Given the description of an element on the screen output the (x, y) to click on. 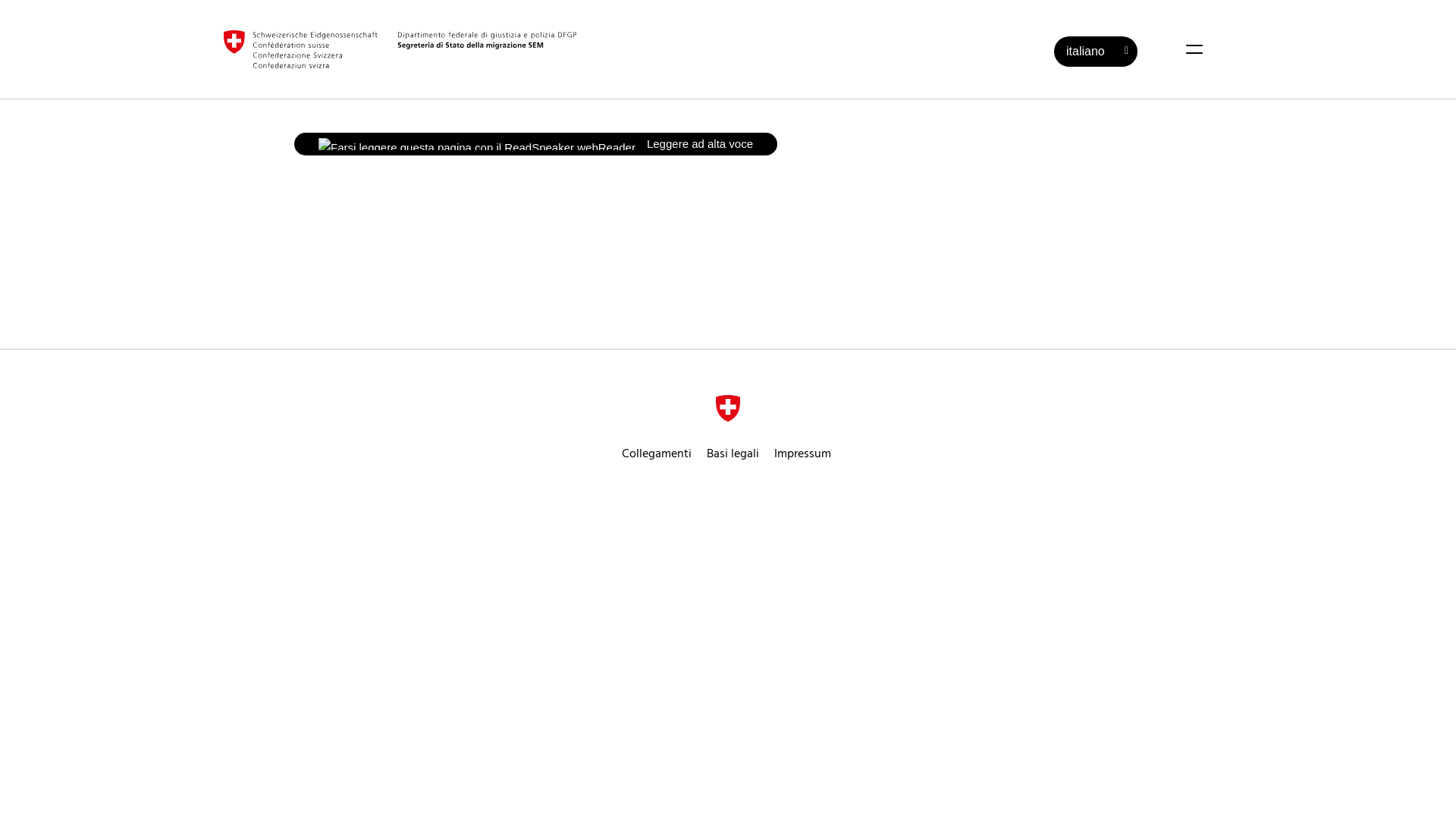
Basi legali Element type: text (732, 454)
Impressum  Element type: text (804, 454)
italiano Element type: text (1095, 51)
Leggere ad alta voce Element type: text (535, 143)
Collegamenti Element type: text (656, 454)
